Given the description of an element on the screen output the (x, y) to click on. 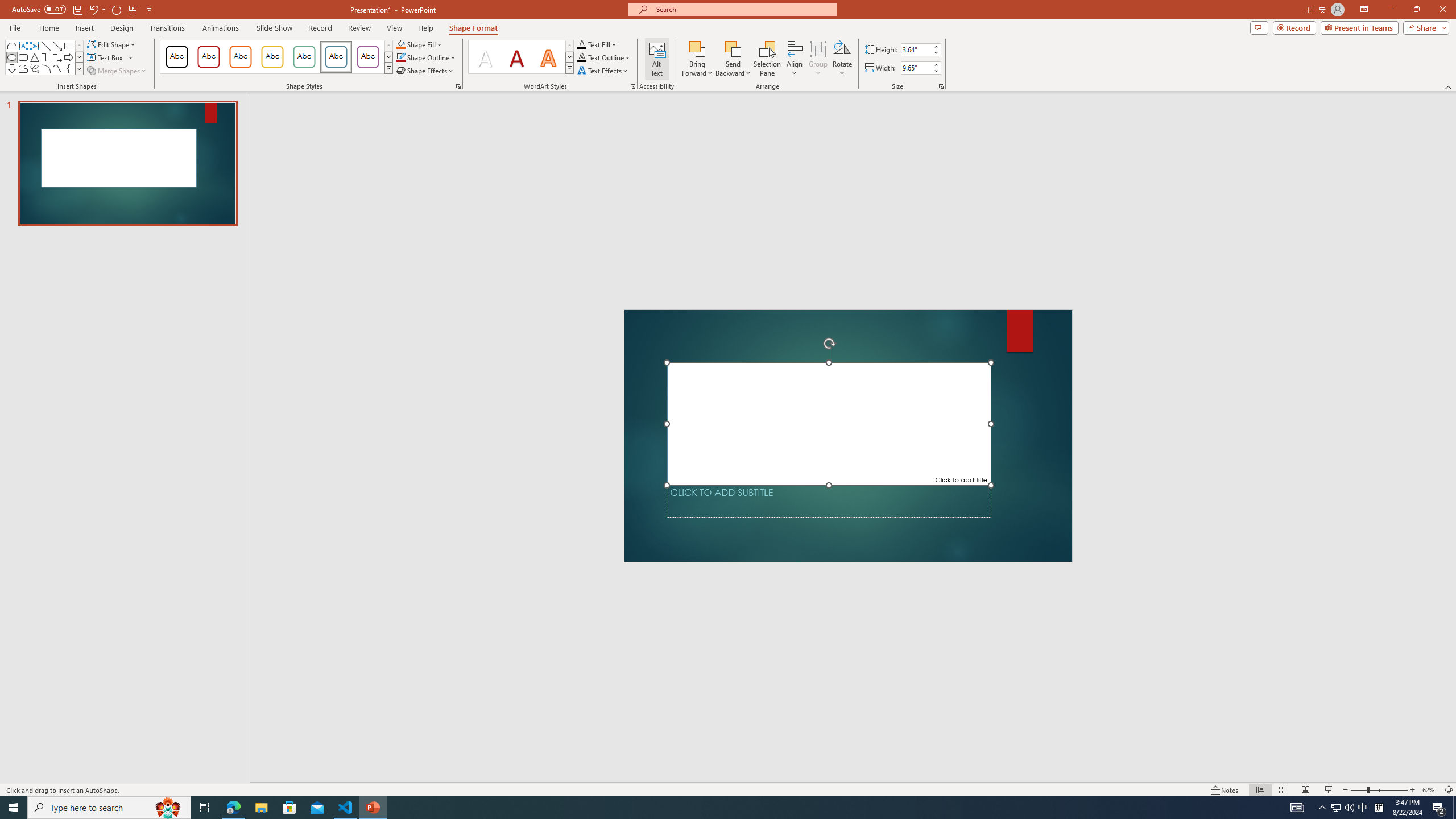
AutomationID: ShapesInsertGallery (44, 57)
Shapes (78, 68)
Curve (57, 68)
Arrow: Right (68, 57)
Connector: Elbow Arrow (57, 57)
Shape Fill Orange, Accent 2 (400, 44)
More (935, 64)
Rectangle: Rounded Corners (23, 57)
Vertical Text Box (34, 45)
Text Effects (603, 69)
Colored Outline - Dark Red, Accent 1 (208, 56)
